Given the description of an element on the screen output the (x, y) to click on. 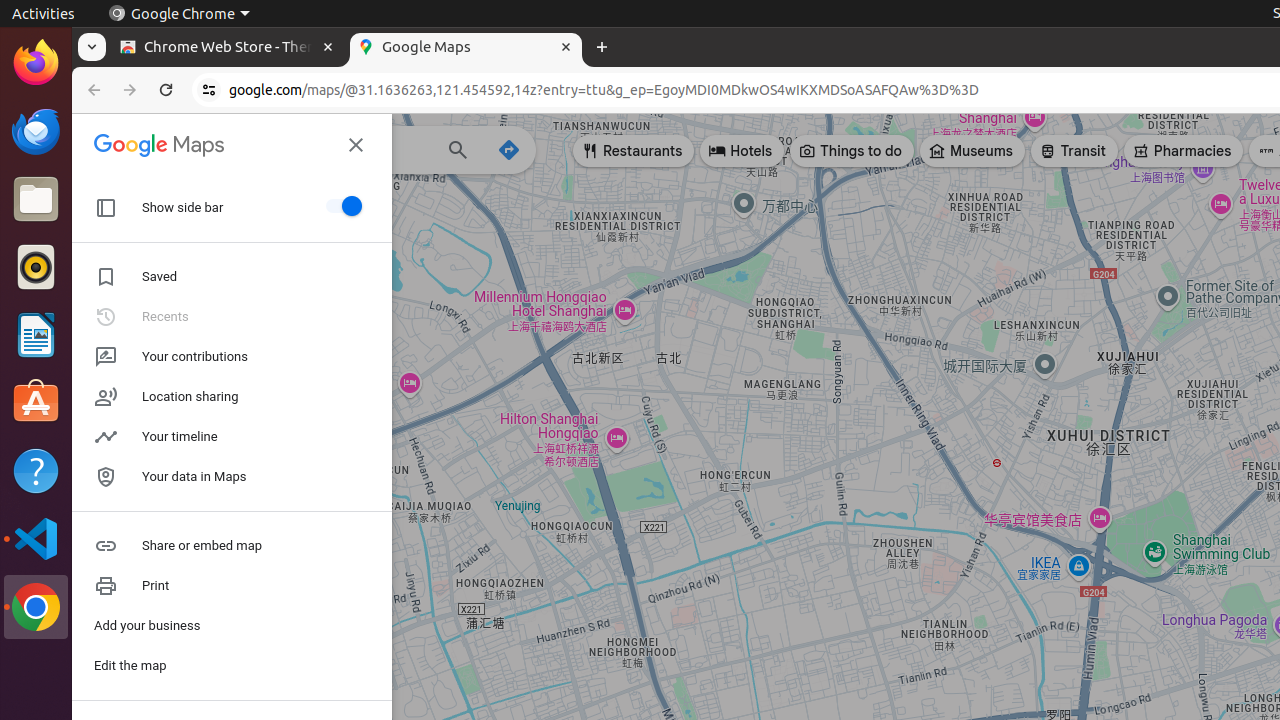
Museums Element type: push-button (972, 151)
Saved Element type: menu-item (232, 277)
Google Maps - Memory usage - 33.1 MB Element type: page-tab (466, 47)
Share or embed map Element type: menu-item (232, 546)
Location sharing Element type: menu-item (232, 397)
